Given the description of an element on the screen output the (x, y) to click on. 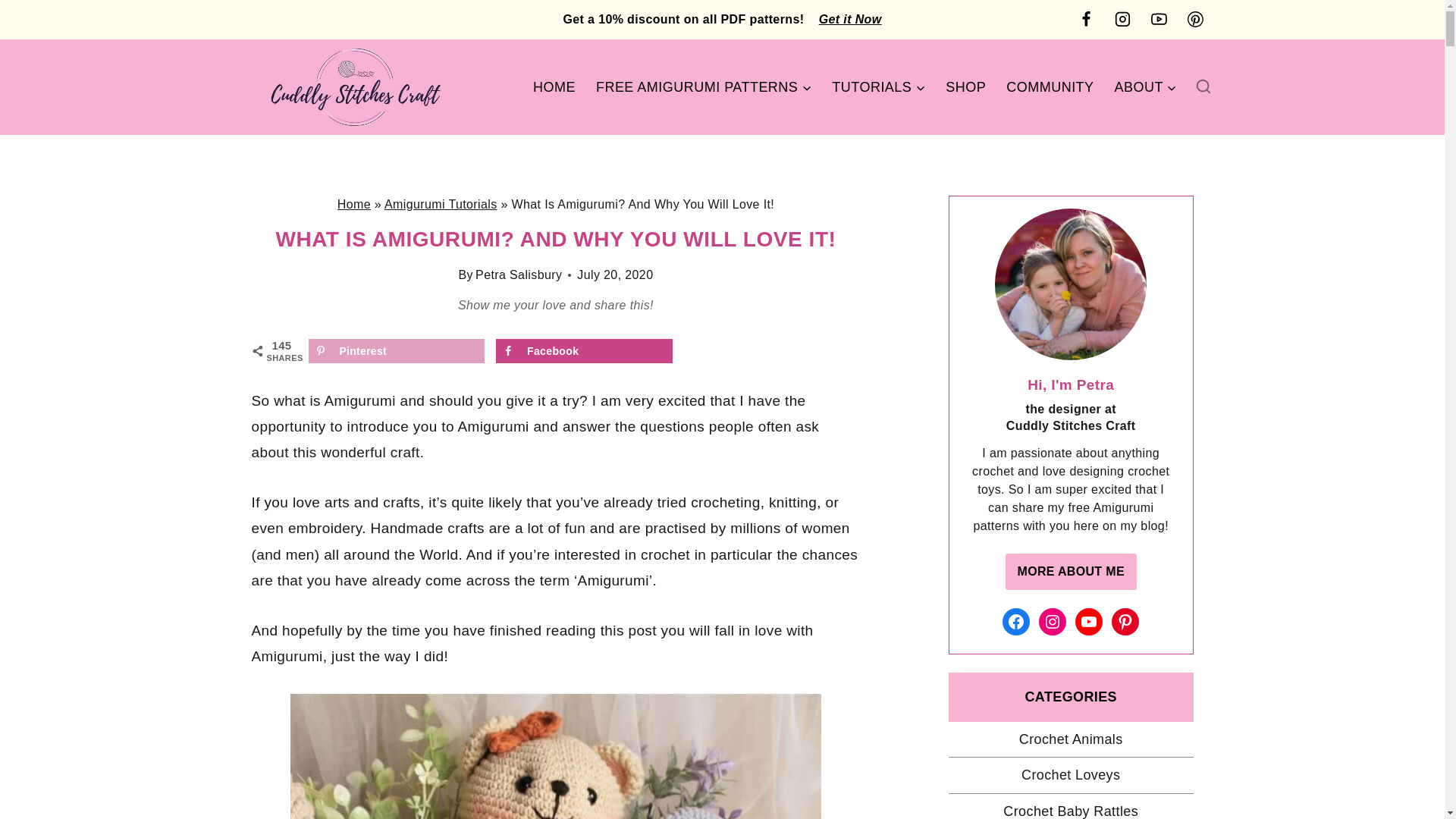
Facebook (584, 351)
Home (354, 204)
SHOP (965, 87)
ABOUT (1144, 87)
Amigurumi Tutorials (440, 204)
Save to Pinterest (395, 351)
Petra Salisbury (519, 274)
FREE AMIGURUMI PATTERNS (703, 87)
COMMUNITY (1049, 87)
Get it Now (850, 18)
